Given the description of an element on the screen output the (x, y) to click on. 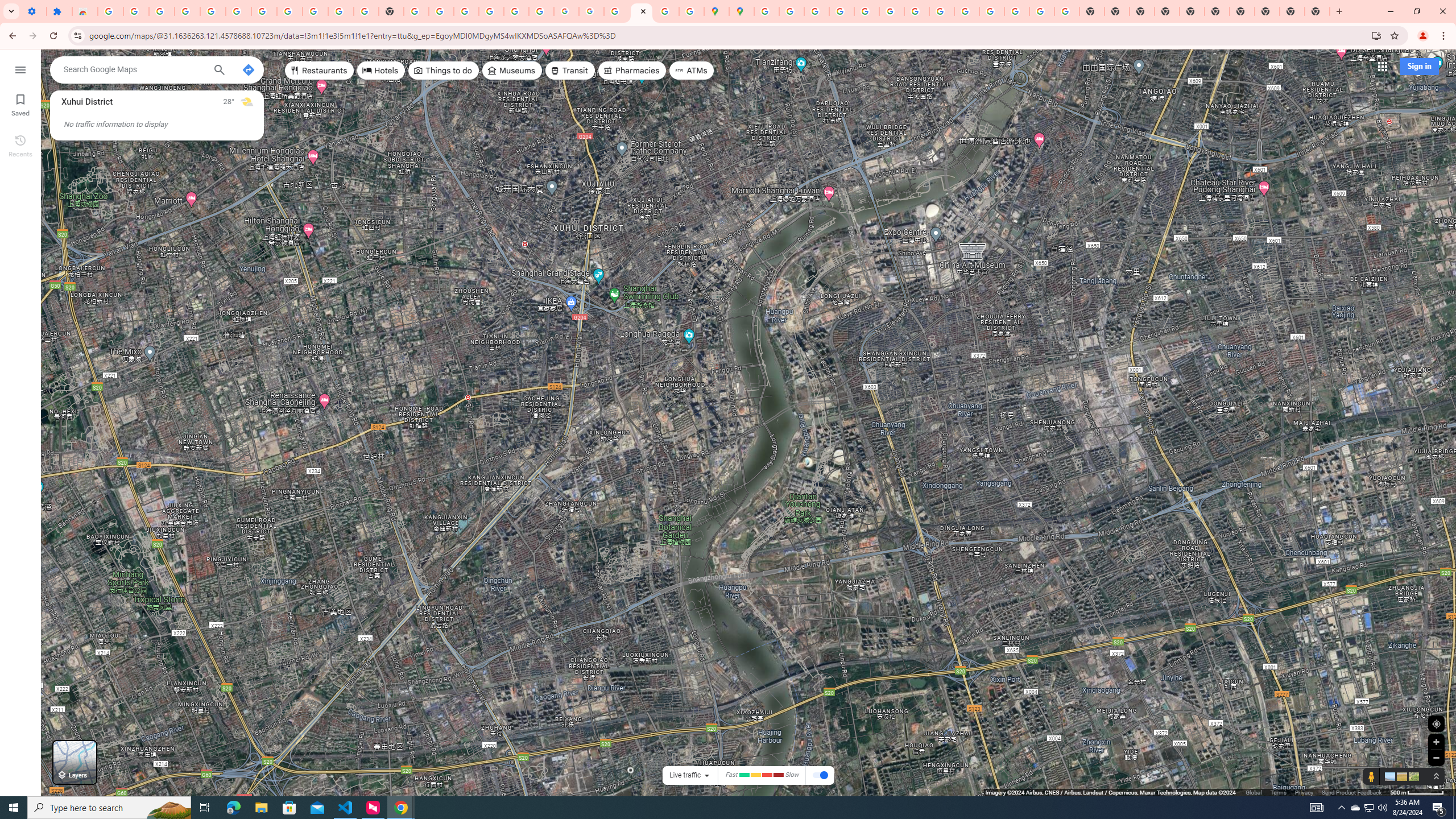
Google Account (315, 11)
Live traffic (684, 774)
Extensions (59, 11)
Directions (247, 69)
Google Maps (641, 11)
YouTube (340, 11)
Restaurants (319, 70)
